Given the description of an element on the screen output the (x, y) to click on. 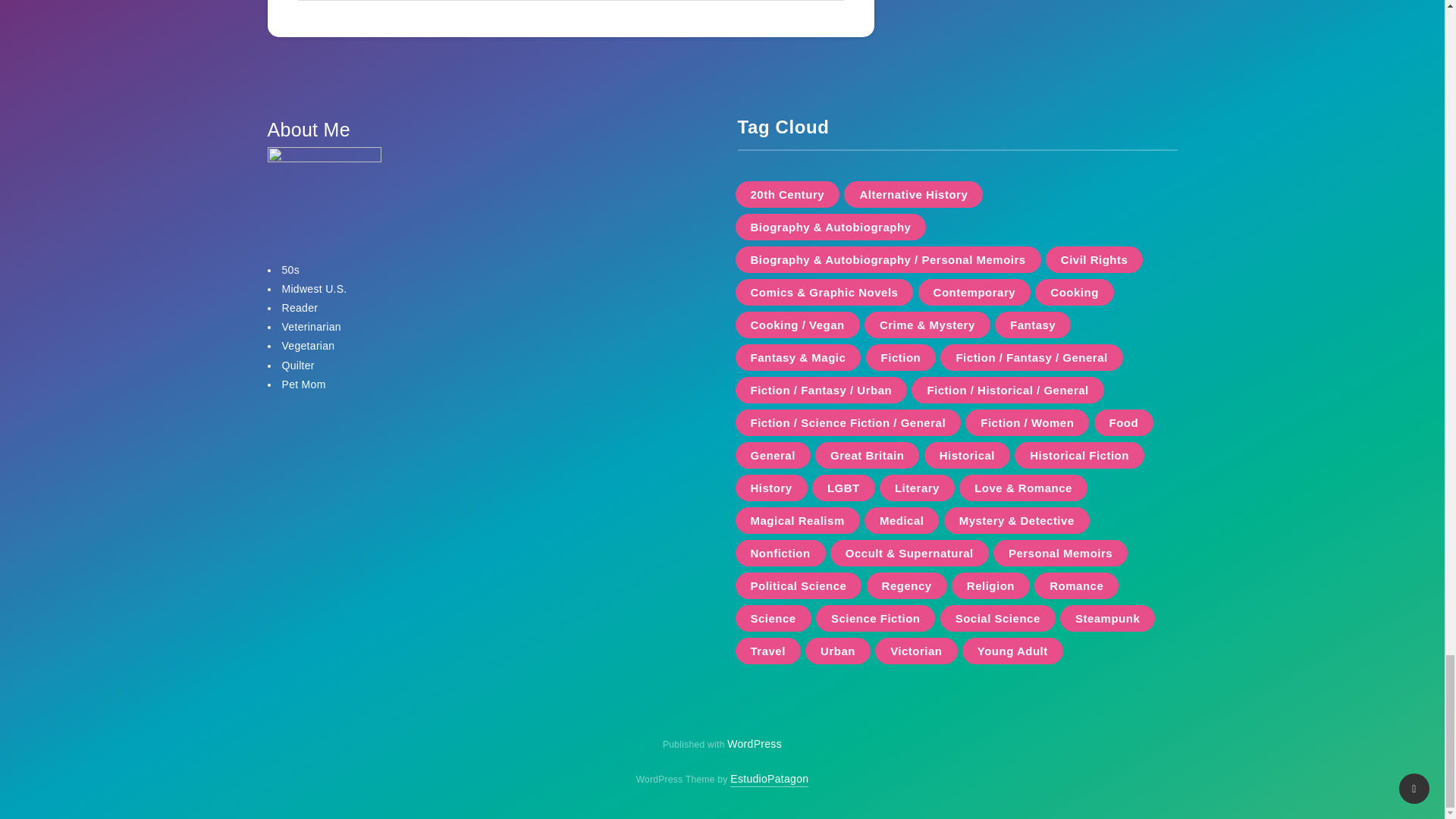
20th Century (787, 194)
Alternative History (913, 194)
